Given the description of an element on the screen output the (x, y) to click on. 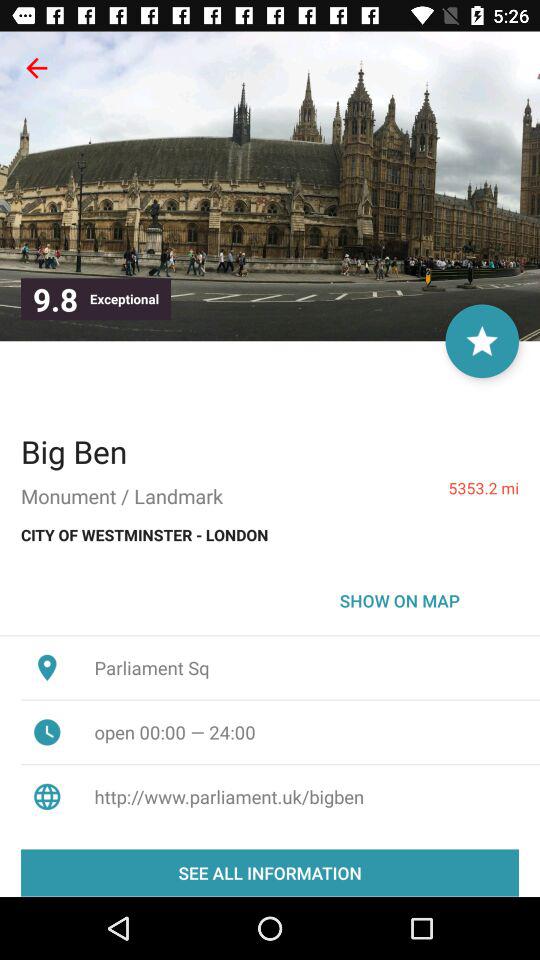
choose big ben (74, 451)
